Given the description of an element on the screen output the (x, y) to click on. 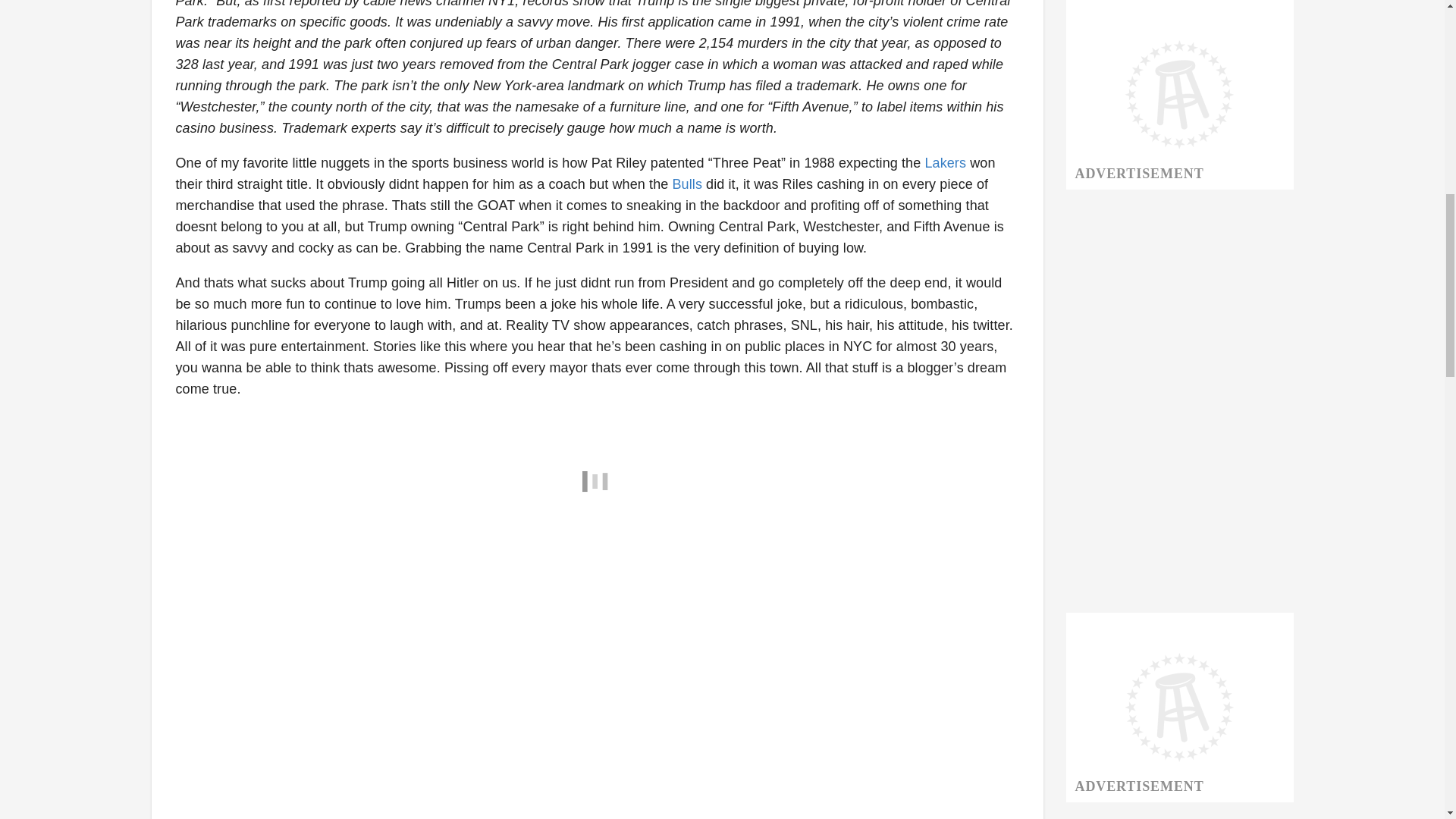
Bulls (686, 183)
Lakers (945, 162)
